Given the description of an element on the screen output the (x, y) to click on. 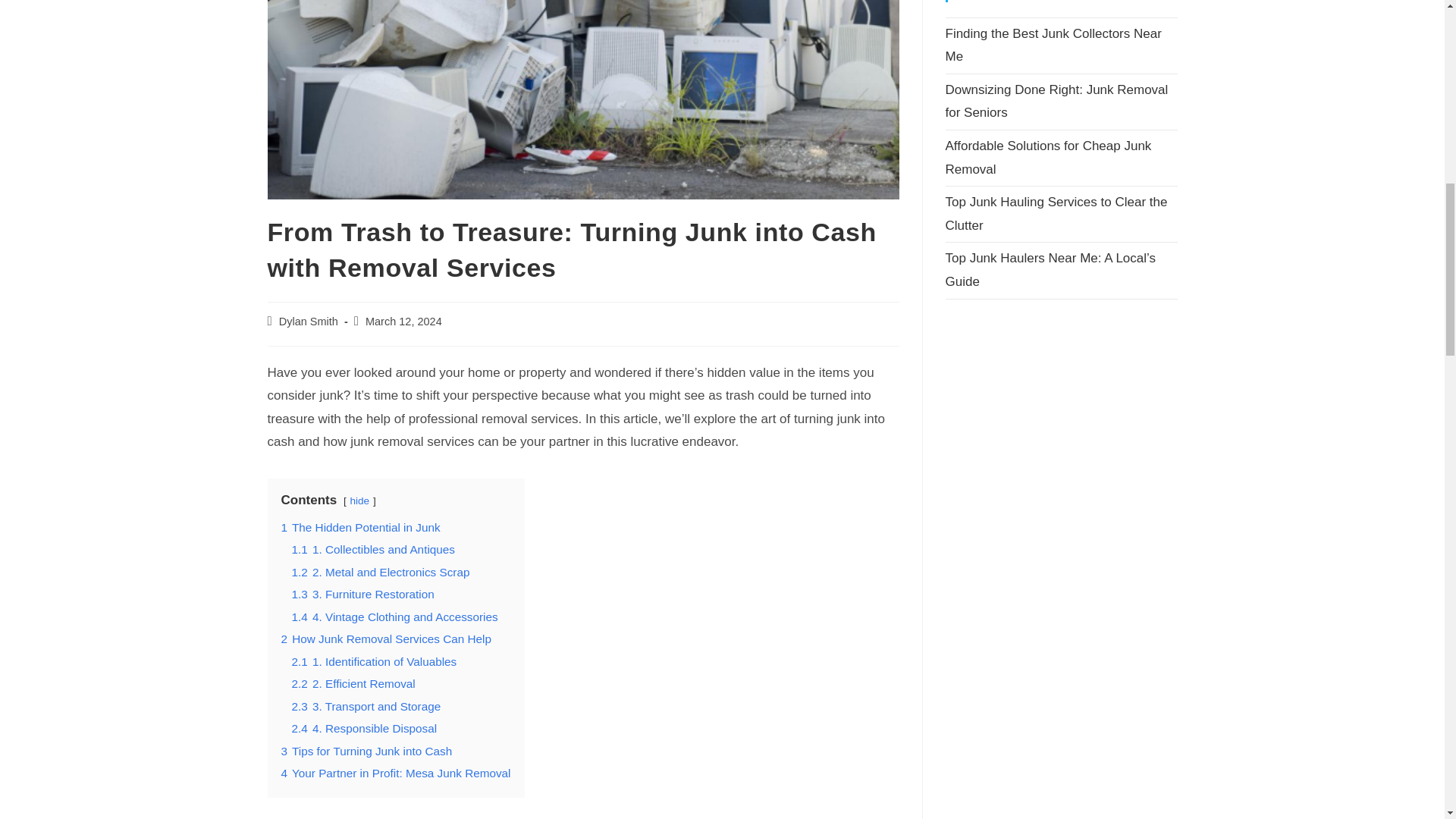
Posts by Dylan Smith (308, 321)
